Given the description of an element on the screen output the (x, y) to click on. 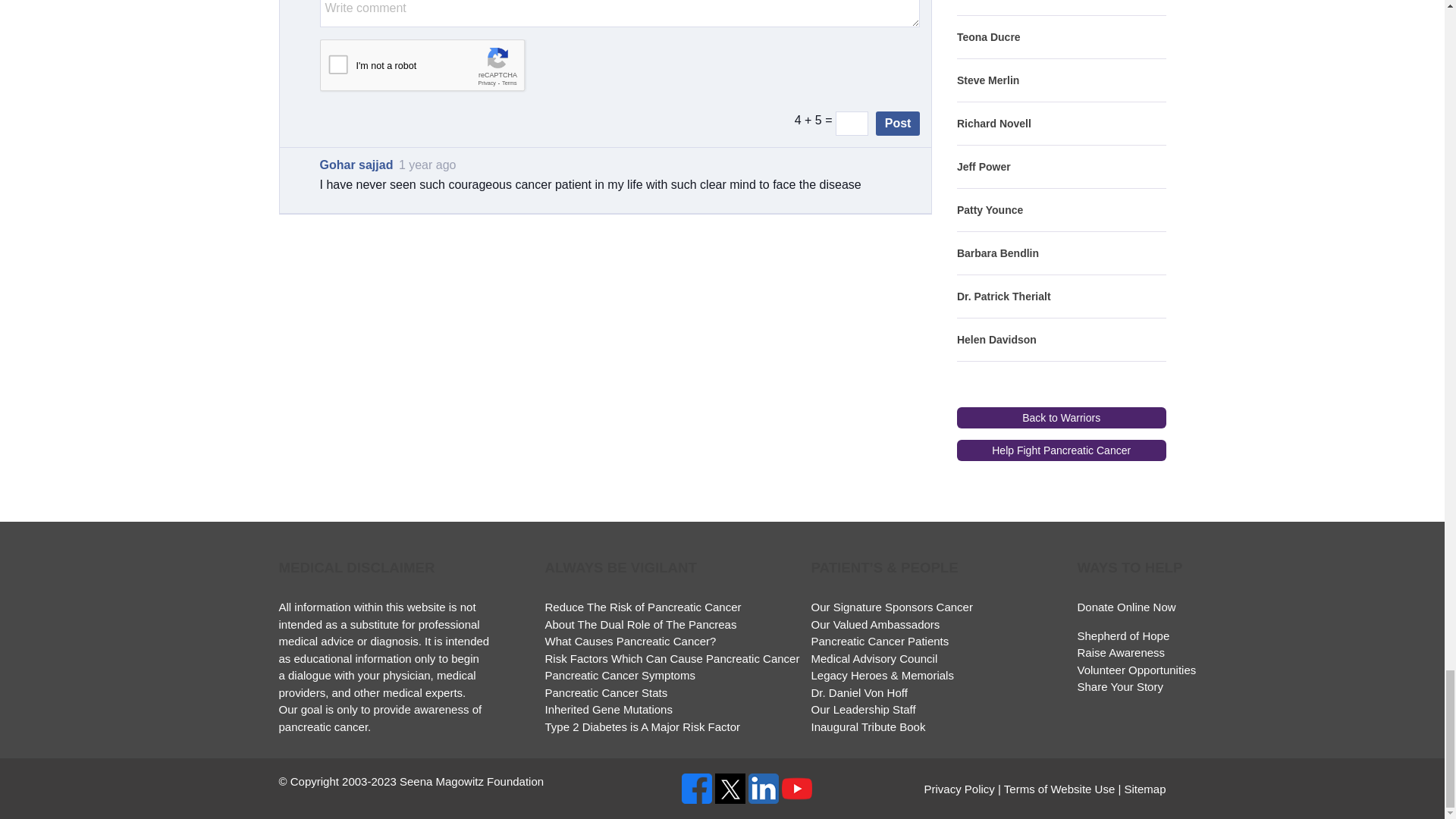
reCAPTCHA (435, 68)
Gohar sajjad (356, 164)
Post (898, 123)
